Given the description of an element on the screen output the (x, y) to click on. 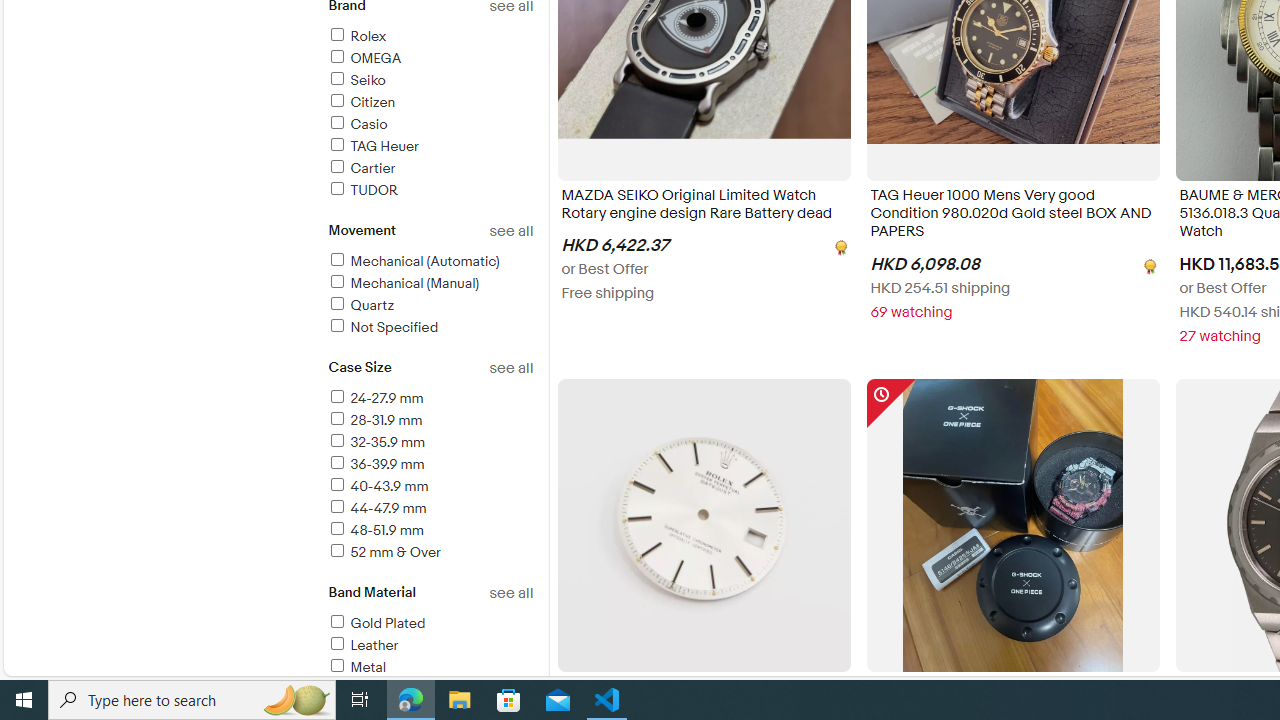
TUDOR (362, 190)
Citizen (360, 102)
44-47.9 mm (376, 507)
Gold Plated (376, 623)
Not Specified (430, 327)
Quartz (360, 304)
44-47.9 mm (430, 509)
